Given the description of an element on the screen output the (x, y) to click on. 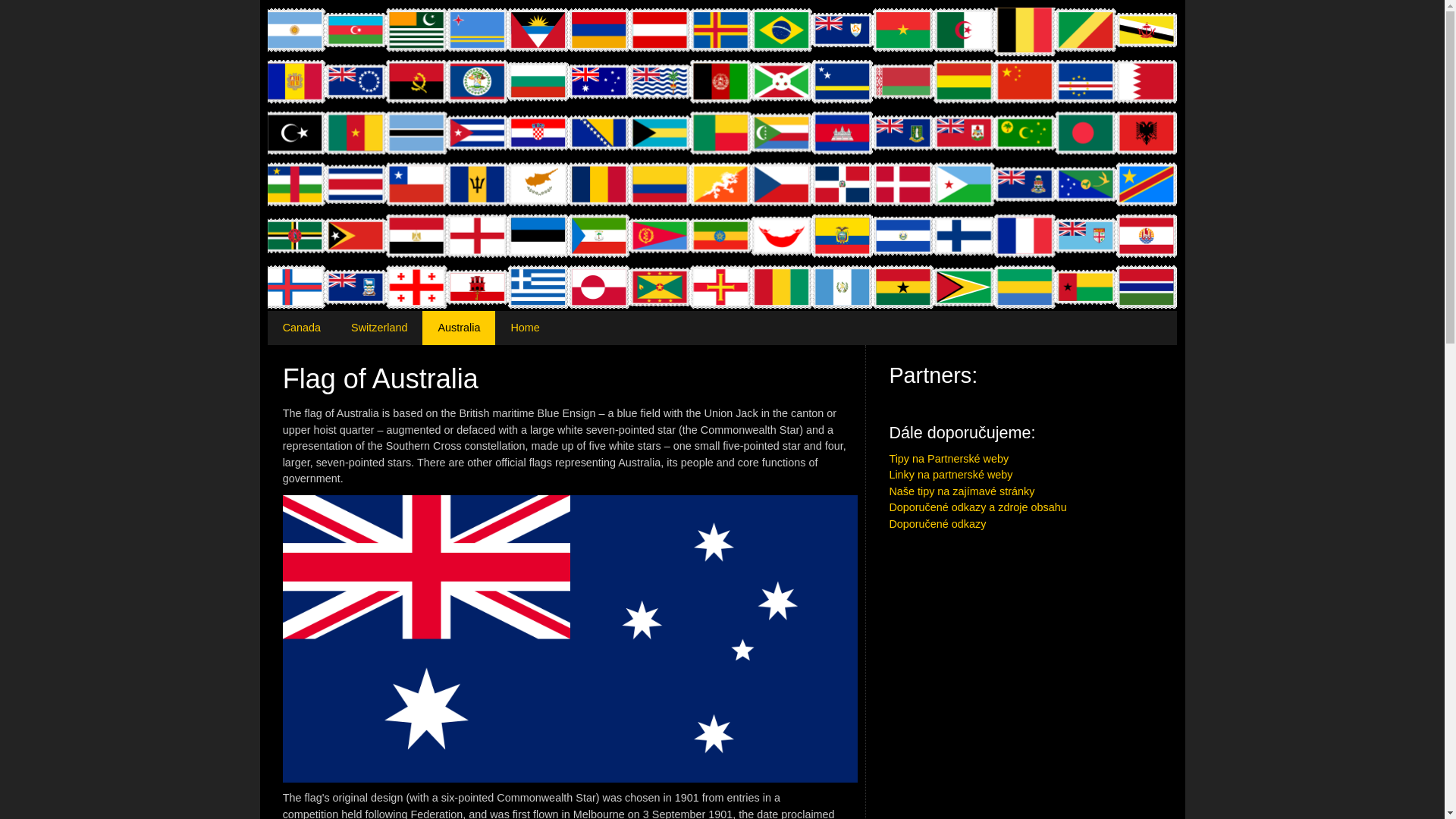
Flag of Australia (458, 327)
Canada (301, 327)
Flags (524, 327)
Switzerland (379, 327)
Flag of Canada (301, 327)
Home (524, 327)
Australia (458, 327)
Flag of Switzerland (379, 327)
